Given the description of an element on the screen output the (x, y) to click on. 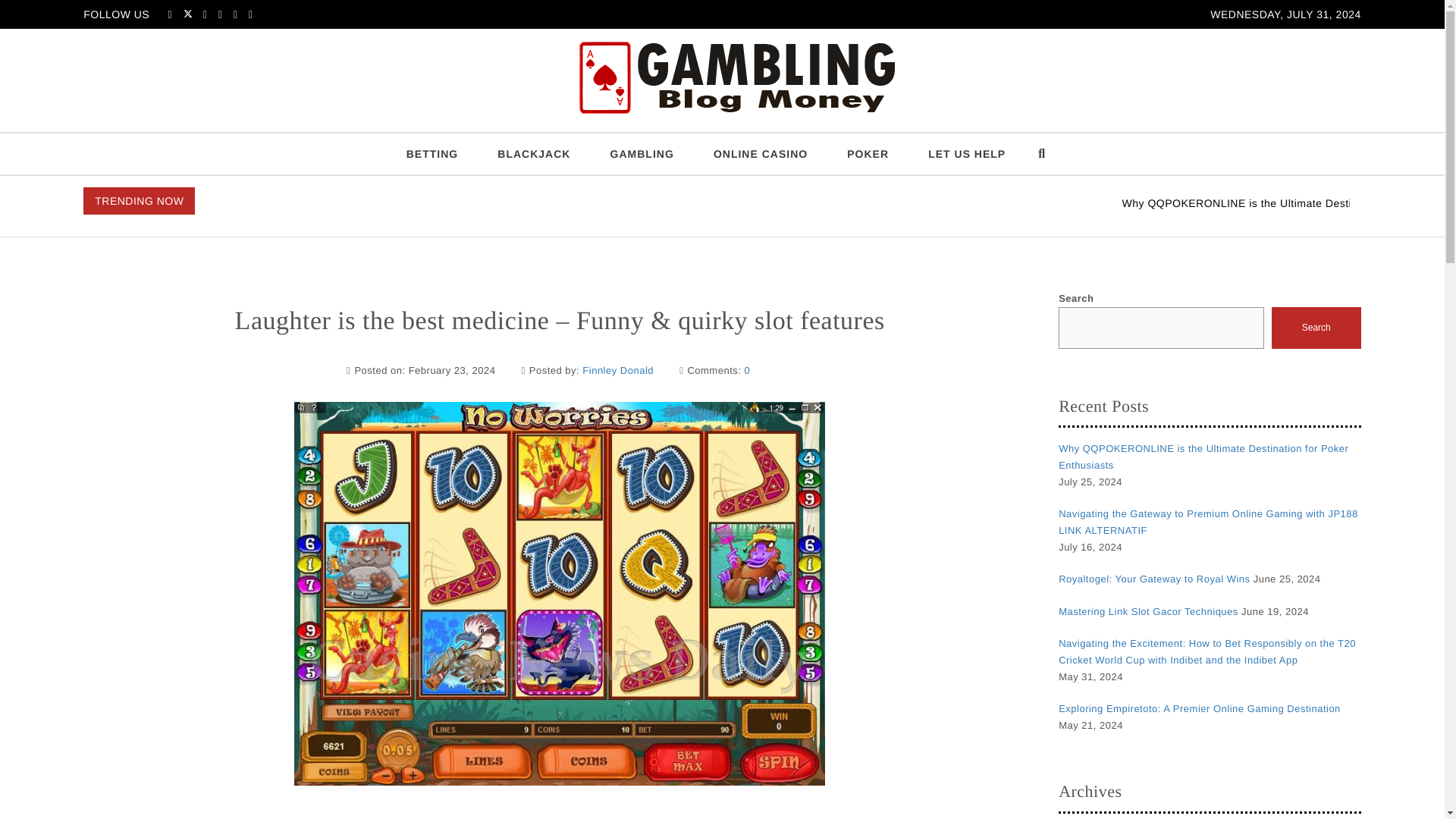
BETTING (432, 153)
ONLINE CASINO (760, 153)
GAMBLING (642, 153)
Finnley Donald (617, 370)
BLACKJACK (533, 153)
Search (1316, 327)
LET US HELP (966, 153)
POKER (867, 153)
Royaltogel: Your Gateway to Royal Wins (1153, 579)
